Given the description of an element on the screen output the (x, y) to click on. 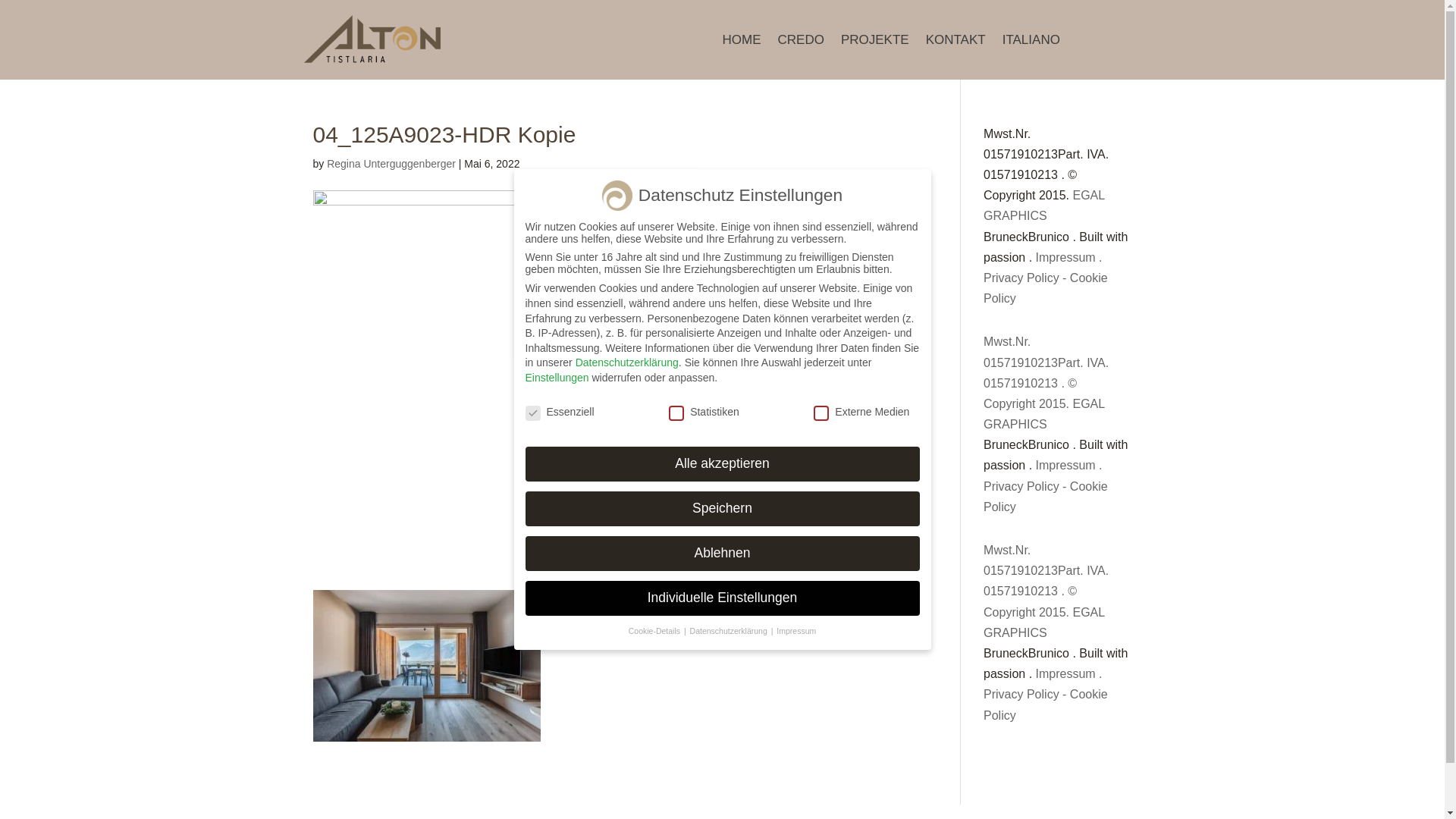
- Element type: text (1064, 486)
Einstellungen Element type: text (556, 377)
EGAL GRAPHICS Element type: text (1043, 622)
- Element type: text (1064, 277)
PROJEKTE Element type: text (874, 42)
- Element type: text (1064, 693)
ITALIANO Element type: text (1031, 42)
EGAL GRAPHICS Element type: text (1043, 413)
Impressum Element type: text (1065, 464)
Privacy Policy Element type: text (1021, 693)
Privacy Policy Element type: text (1021, 486)
Impressum Element type: text (795, 630)
. Element type: text (1098, 673)
Privacy Policy Element type: text (1021, 277)
CREDO Element type: text (801, 42)
Individuelle Einstellungen Element type: text (721, 597)
Impressum Element type: text (1065, 257)
Cookie Policy Element type: text (1045, 287)
Alle akzeptieren Element type: text (721, 463)
. Element type: text (1098, 257)
. Element type: text (1098, 464)
HOME Element type: text (740, 42)
Ablehnen Element type: text (721, 553)
KONTAKT Element type: text (955, 42)
Speichern Element type: text (721, 508)
Cookie Policy Element type: text (1045, 496)
Cookie Policy Element type: text (1045, 704)
Alton Logo CMYK 2015_250px Element type: hover (372, 39)
Cookie-Details Element type: text (655, 630)
Impressum Element type: text (1065, 673)
EGAL GRAPHICS Element type: text (1043, 205)
Regina Unterguggenberger Element type: text (390, 163)
